Given the description of an element on the screen output the (x, y) to click on. 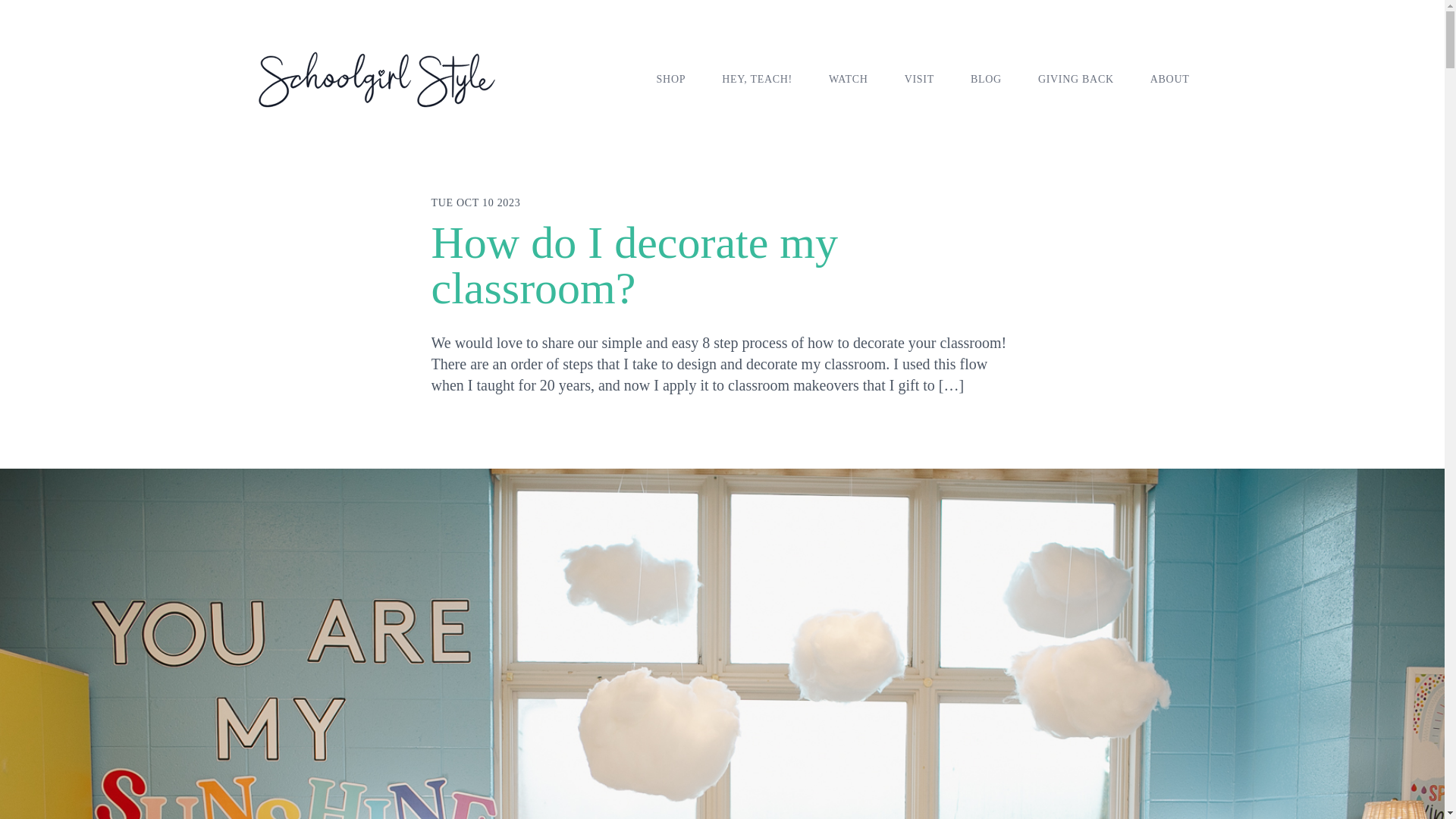
SHOP (670, 79)
VISIT (919, 79)
HEY, TEACH! (757, 79)
ABOUT (1169, 79)
WATCH (847, 79)
Schoolgirl Style (375, 79)
GIVING BACK (1075, 79)
BLOG (986, 79)
